Given the description of an element on the screen output the (x, y) to click on. 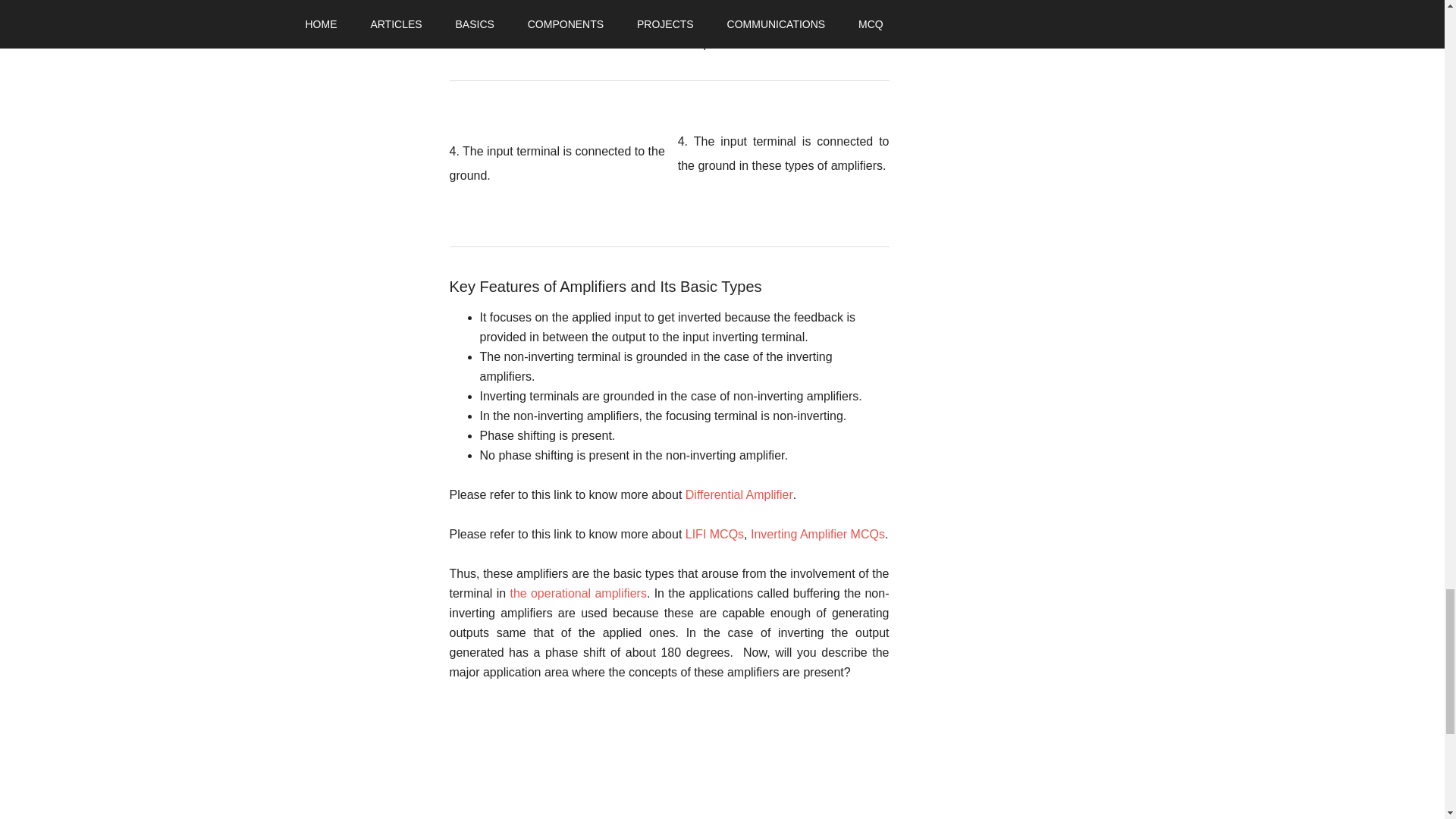
Differential Amplifier (739, 494)
LIFI MCQs (714, 533)
Inverting Amplifier MCQs (818, 533)
the operational amplifiers (577, 593)
